Given the description of an element on the screen output the (x, y) to click on. 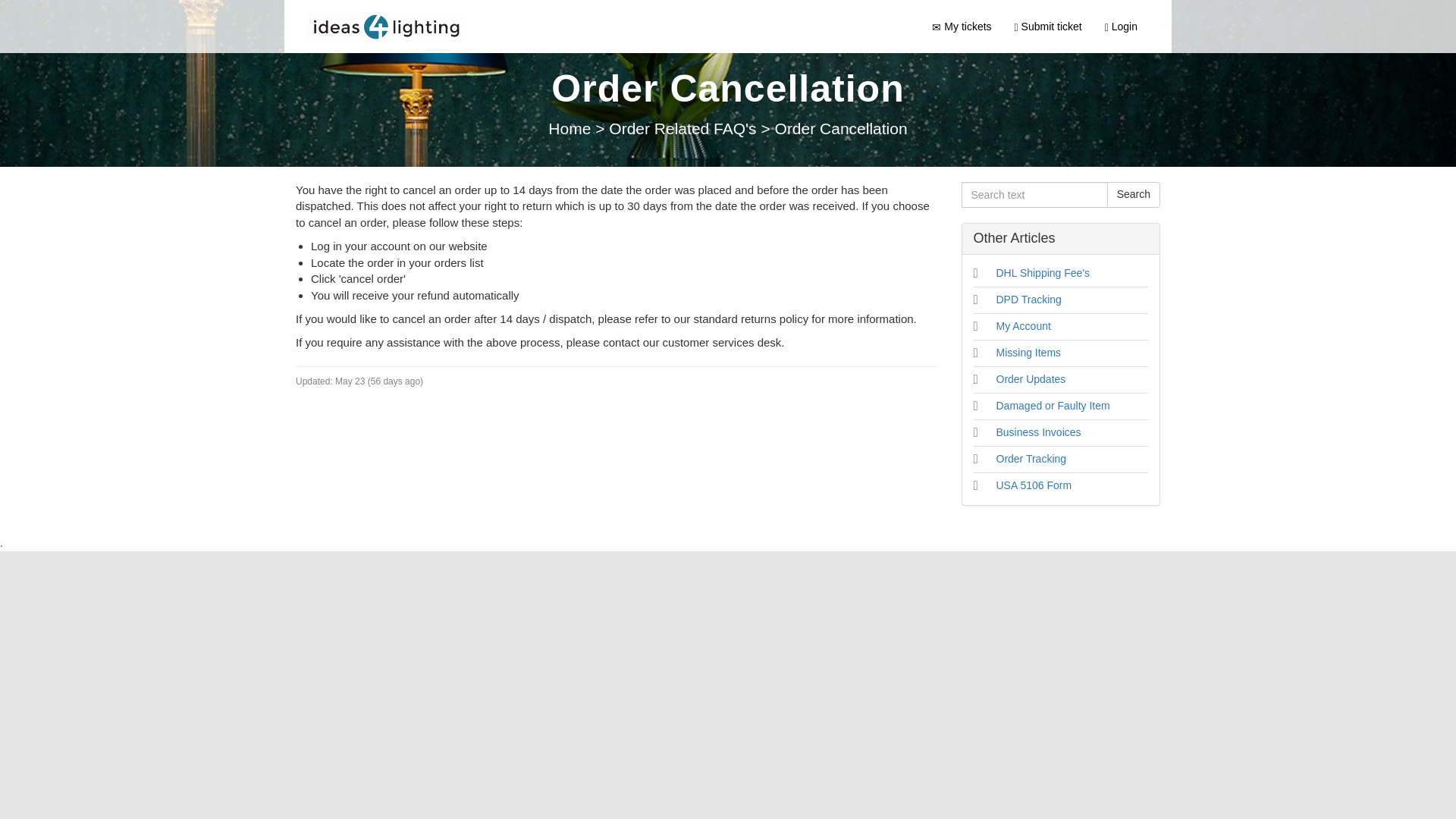
Search text (1034, 194)
DHL Shipping Fee's (1042, 272)
Order Tracking (1031, 458)
Missing Items (1028, 352)
DPD Tracking (1028, 299)
USA 5106 Form (1033, 485)
Order Related FAQ's (684, 128)
DPD Tracking (1028, 299)
Order Updates (1030, 378)
Order Updates (1030, 378)
Missing Items (1028, 352)
My tickets (961, 26)
Damaged or Faulty Item (1052, 405)
USA 5106 Form (1033, 485)
Damaged or Faulty Item (1052, 405)
